Given the description of an element on the screen output the (x, y) to click on. 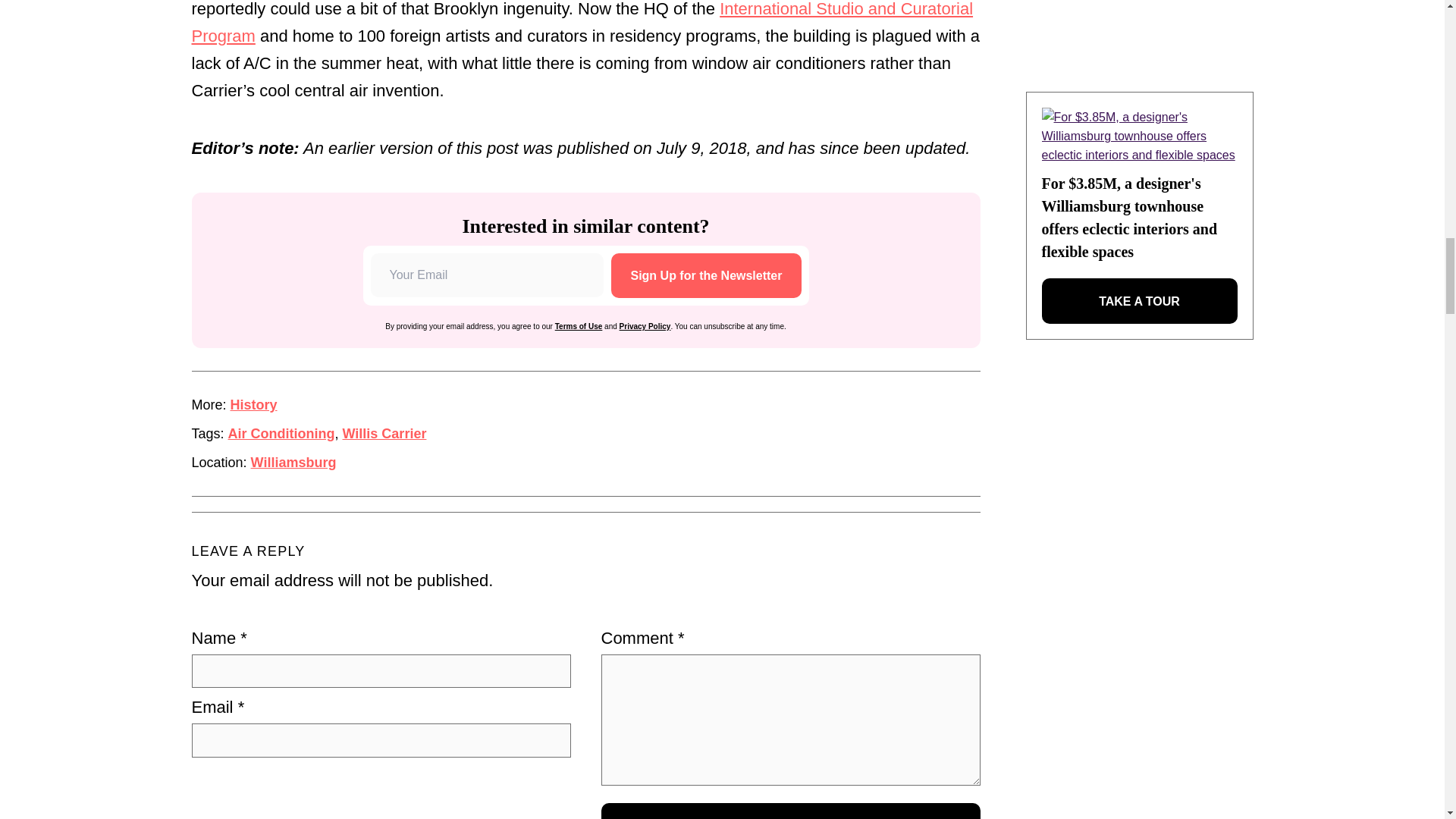
Sign Up for the Newsletter (705, 275)
International Studio and Curatorial Program (581, 22)
Terms of Use (578, 326)
Leave Reply (789, 811)
Williamsburg (293, 462)
Willis Carrier (384, 433)
History (254, 404)
Sign Up for the Newsletter (705, 275)
Air Conditioning (281, 433)
Privacy Policy (645, 326)
